Given the description of an element on the screen output the (x, y) to click on. 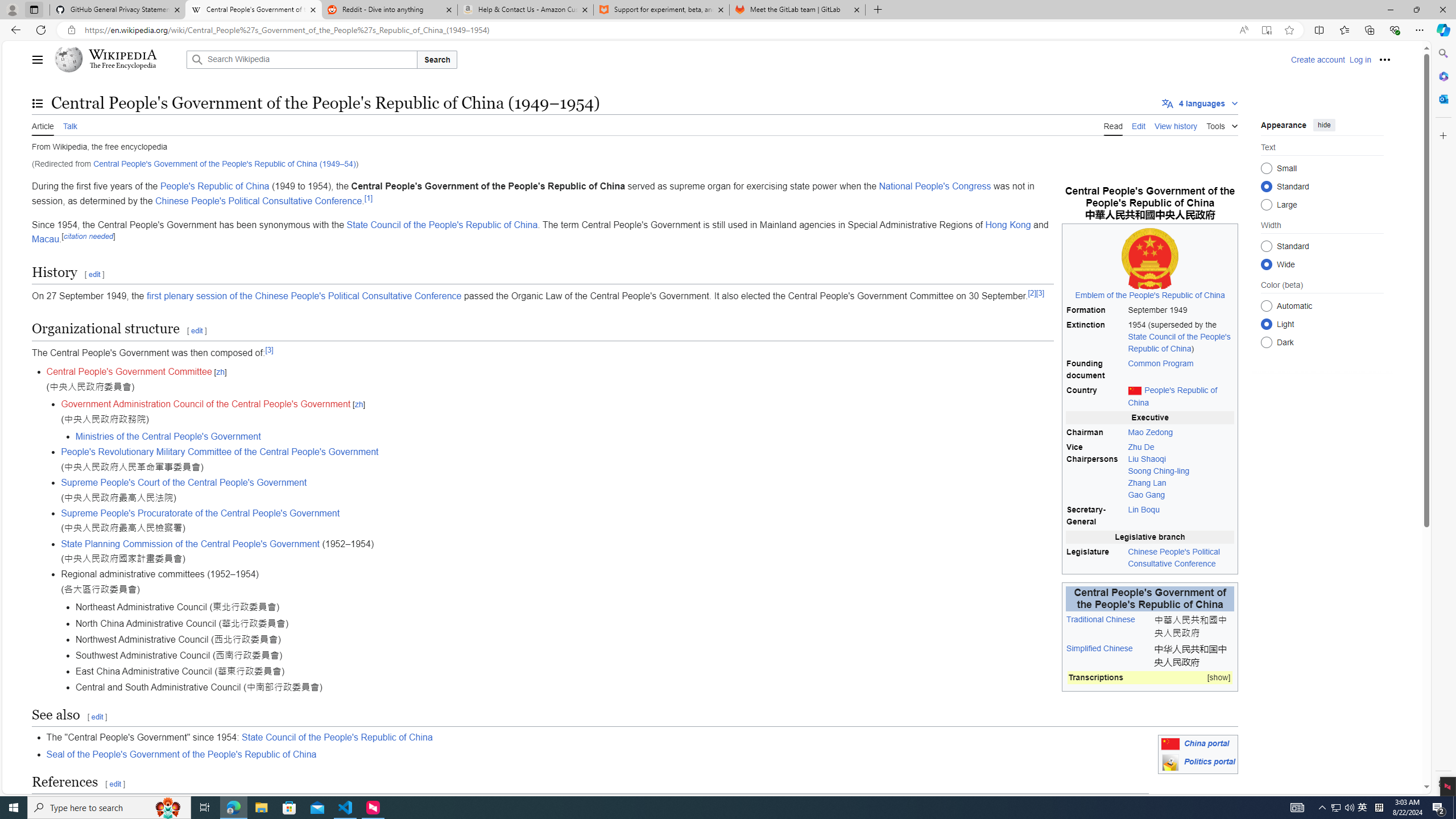
Help & Contact Us - Amazon Customer Service - Sleeping (525, 9)
Talk (69, 124)
Personal tools (1384, 59)
Country (1095, 396)
Ministries of the Central People's Government (656, 436)
Supreme People's Court of the Central People's Government (184, 482)
